Given the description of an element on the screen output the (x, y) to click on. 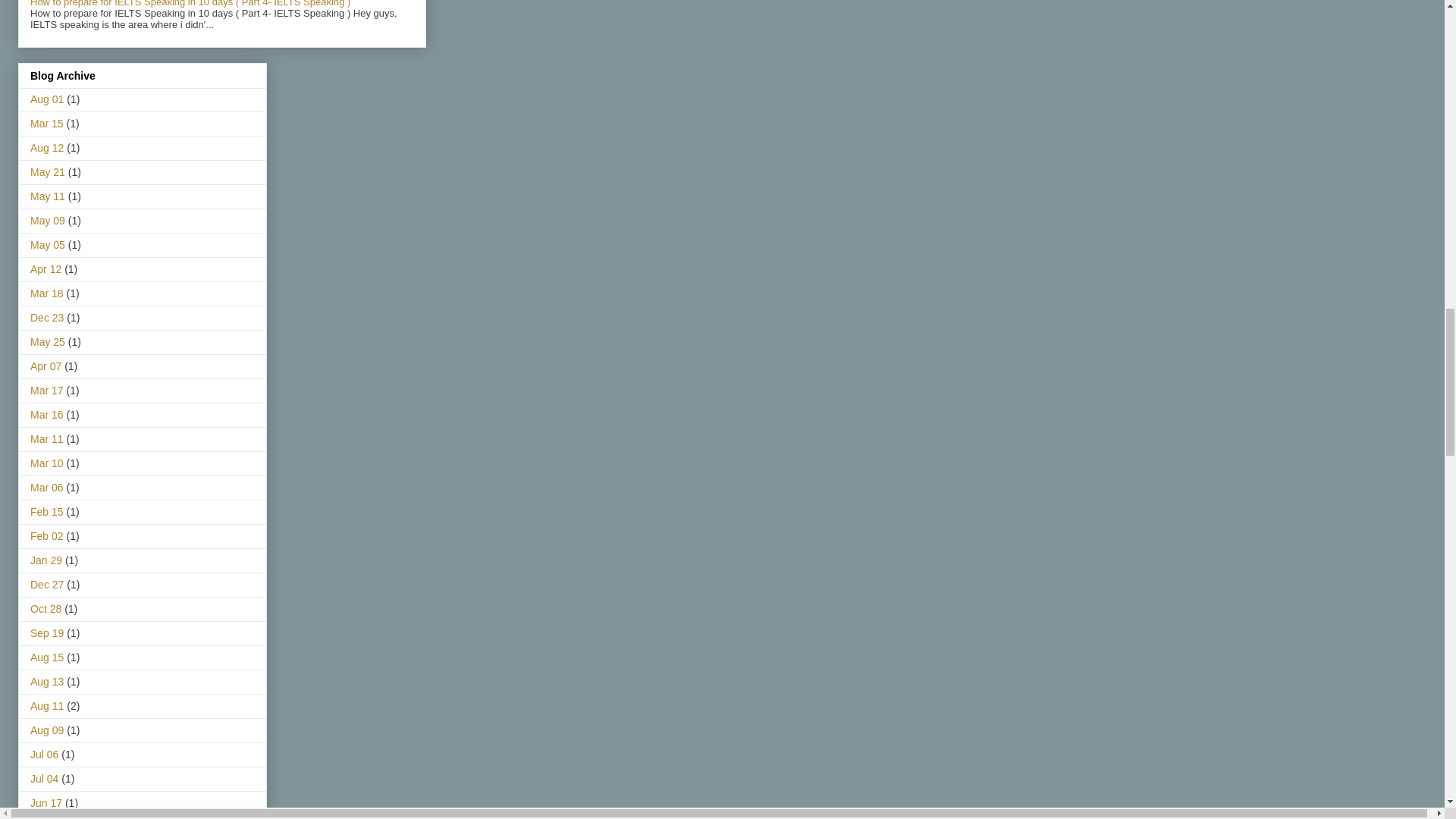
May 21 (47, 172)
Aug 01 (47, 99)
Dec 23 (47, 317)
May 09 (47, 220)
Mar 18 (47, 293)
May 11 (47, 196)
Apr 12 (45, 268)
May 25 (47, 341)
Aug 12 (47, 147)
May 05 (47, 244)
Mar 15 (47, 123)
